Given the description of an element on the screen output the (x, y) to click on. 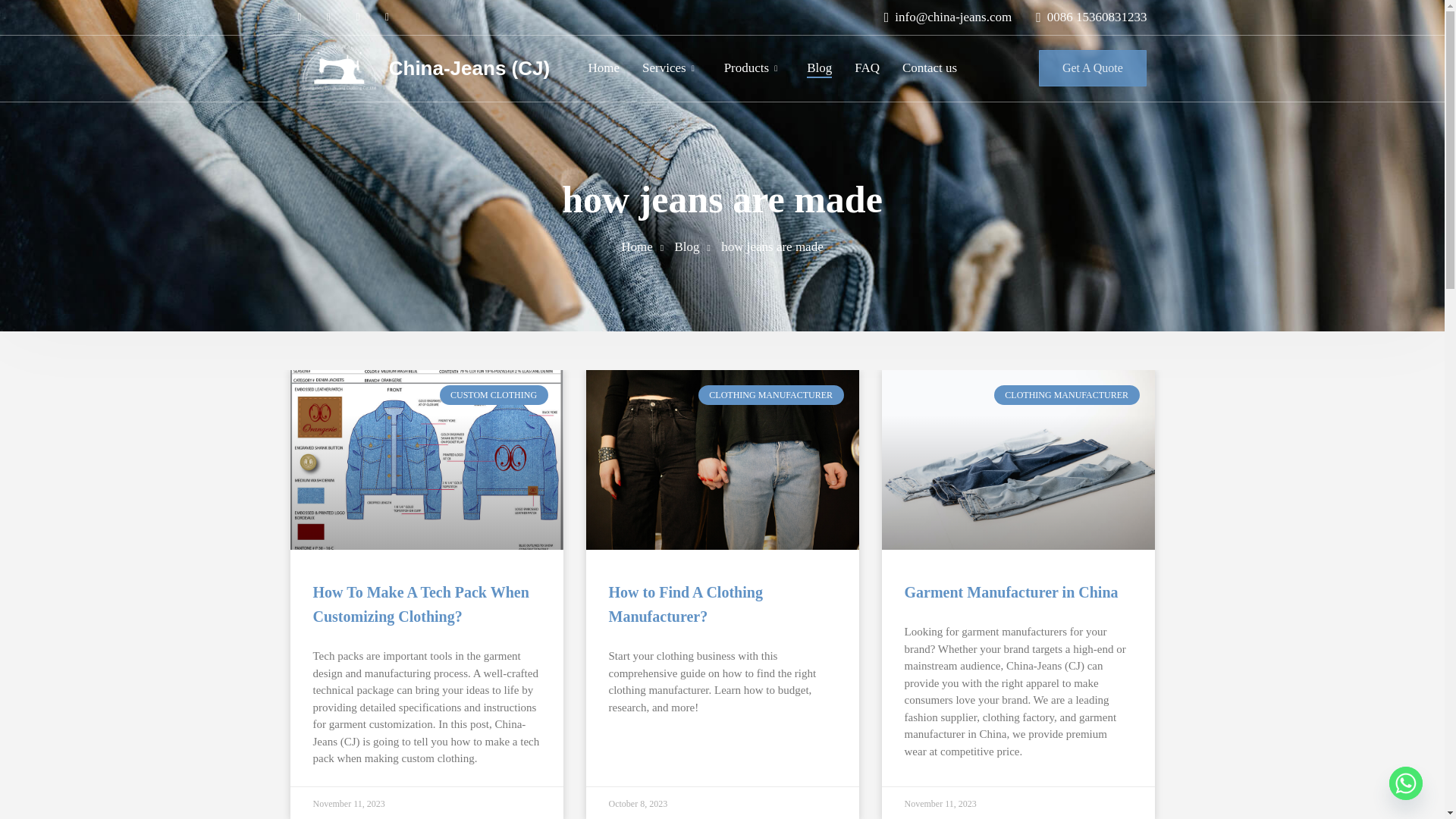
Blog (686, 246)
Get A Quote (1093, 67)
Garment Manufacturer in China (1011, 591)
Services (663, 67)
Go to Blog. (686, 246)
Home (636, 246)
Contact us (929, 67)
Products (746, 67)
0086 15360831233 (1085, 17)
Home (604, 67)
How To Make A Tech Pack When Customizing Clothing? (420, 603)
FAQ (866, 67)
How to Find A Clothing Manufacturer? (684, 603)
Blog (818, 67)
